Given the description of an element on the screen output the (x, y) to click on. 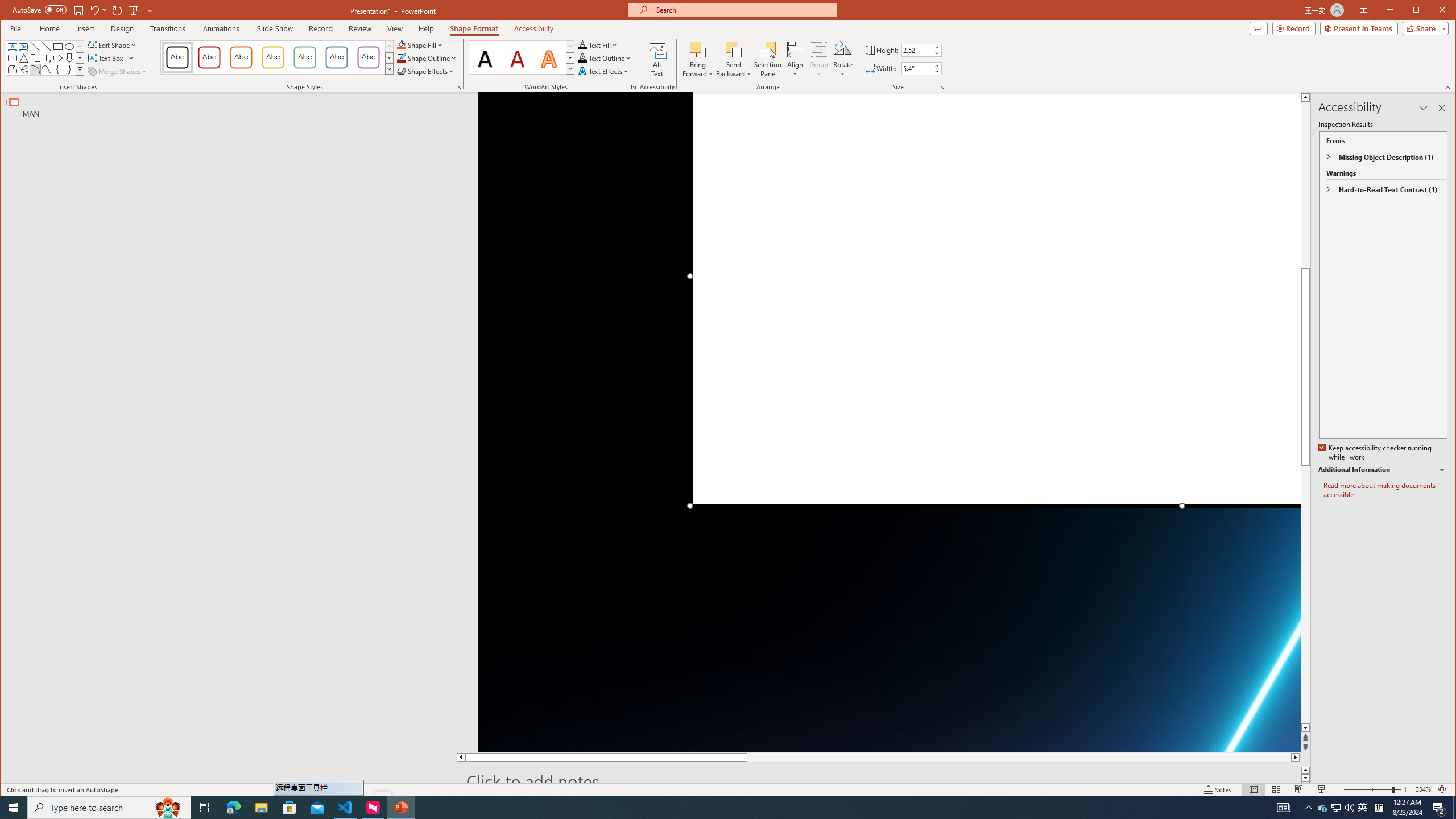
Format Text Effects... (632, 86)
Group (818, 59)
Notification Chevron (1308, 807)
Animations (221, 28)
AutomationID: ShapesInsertGallery (45, 57)
AutomationID: ShapeStylesGallery (277, 57)
Title TextBox (994, 299)
Text Fill (598, 44)
Shape Format (473, 28)
Customize Quick Access Toolbar (150, 9)
Left Brace (58, 69)
Oval (69, 46)
Insert (85, 28)
Close (1444, 11)
